Given the description of an element on the screen output the (x, y) to click on. 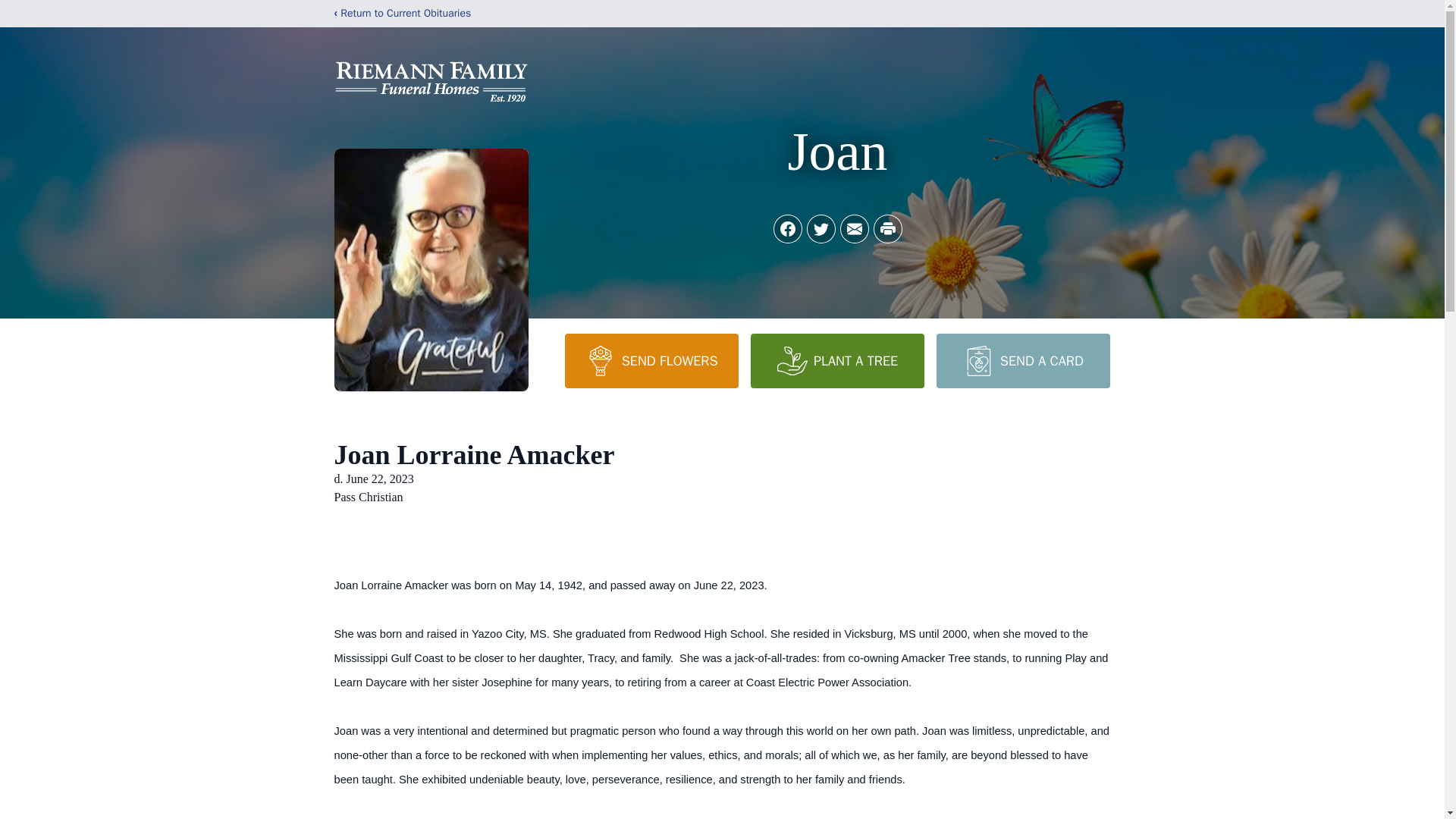
PLANT A TREE (837, 360)
SEND A CARD (1022, 360)
SEND FLOWERS (651, 360)
